Given the description of an element on the screen output the (x, y) to click on. 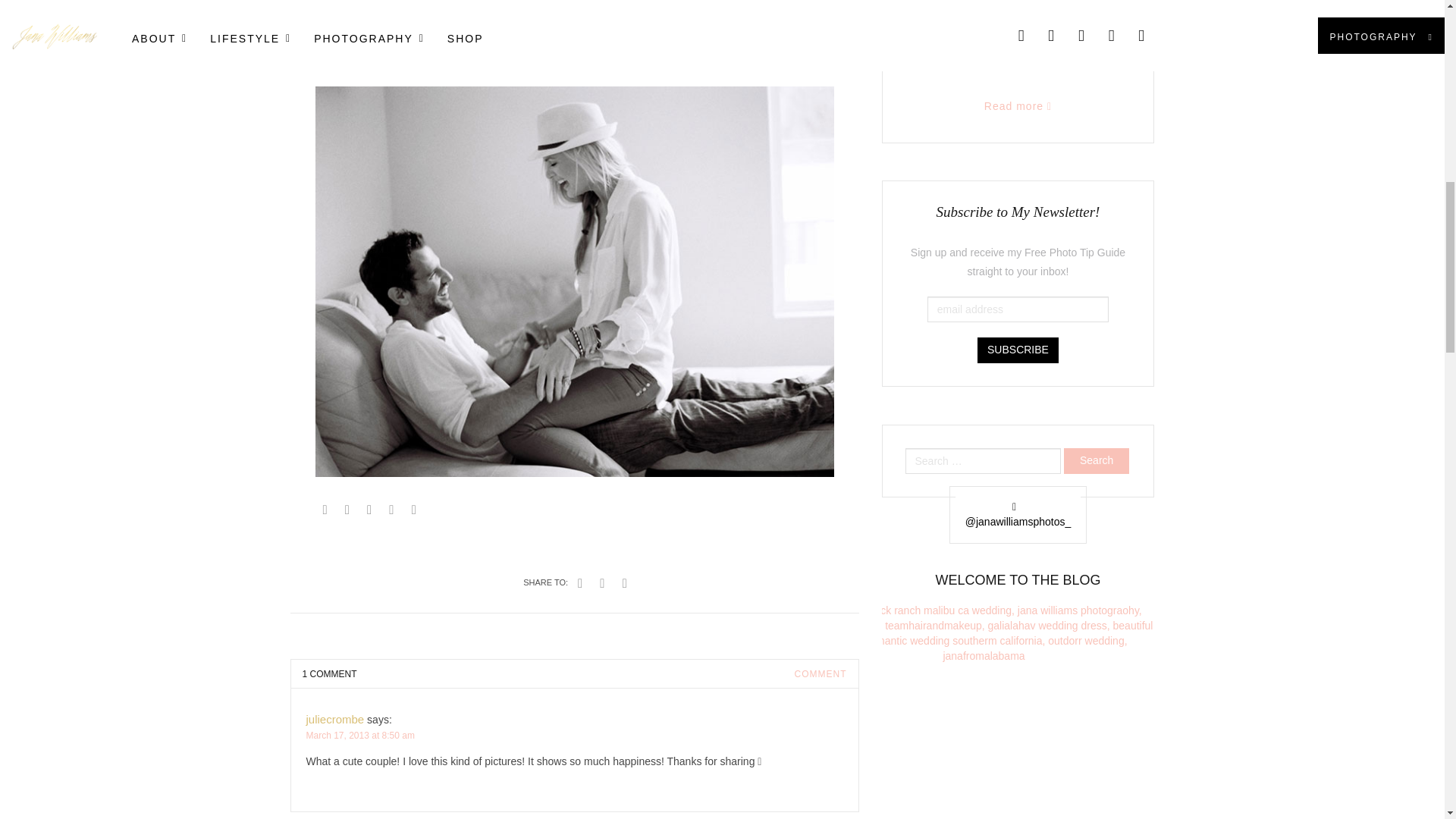
SUBSCRIBE (1017, 350)
Search (1096, 460)
Search (1096, 460)
